Given the description of an element on the screen output the (x, y) to click on. 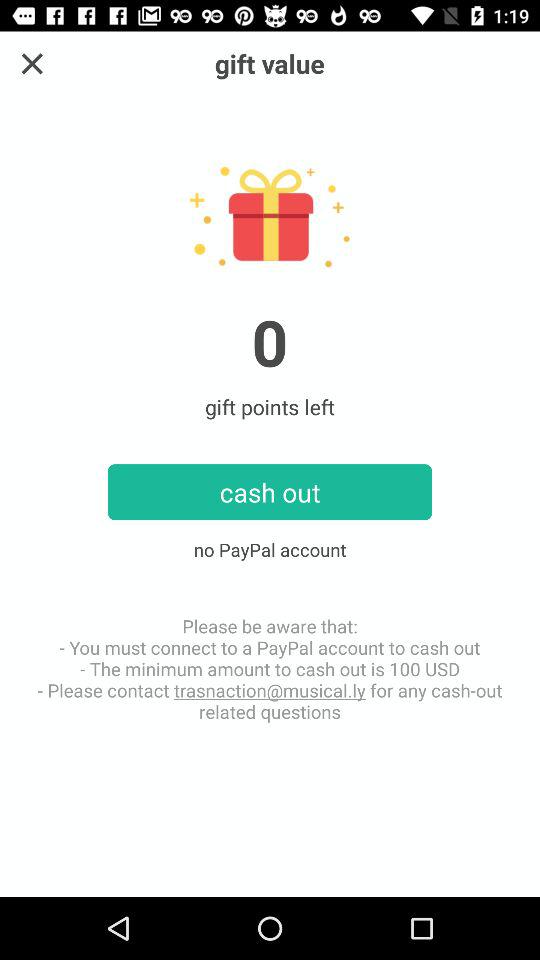
choose icon at the top left corner (32, 63)
